Given the description of an element on the screen output the (x, y) to click on. 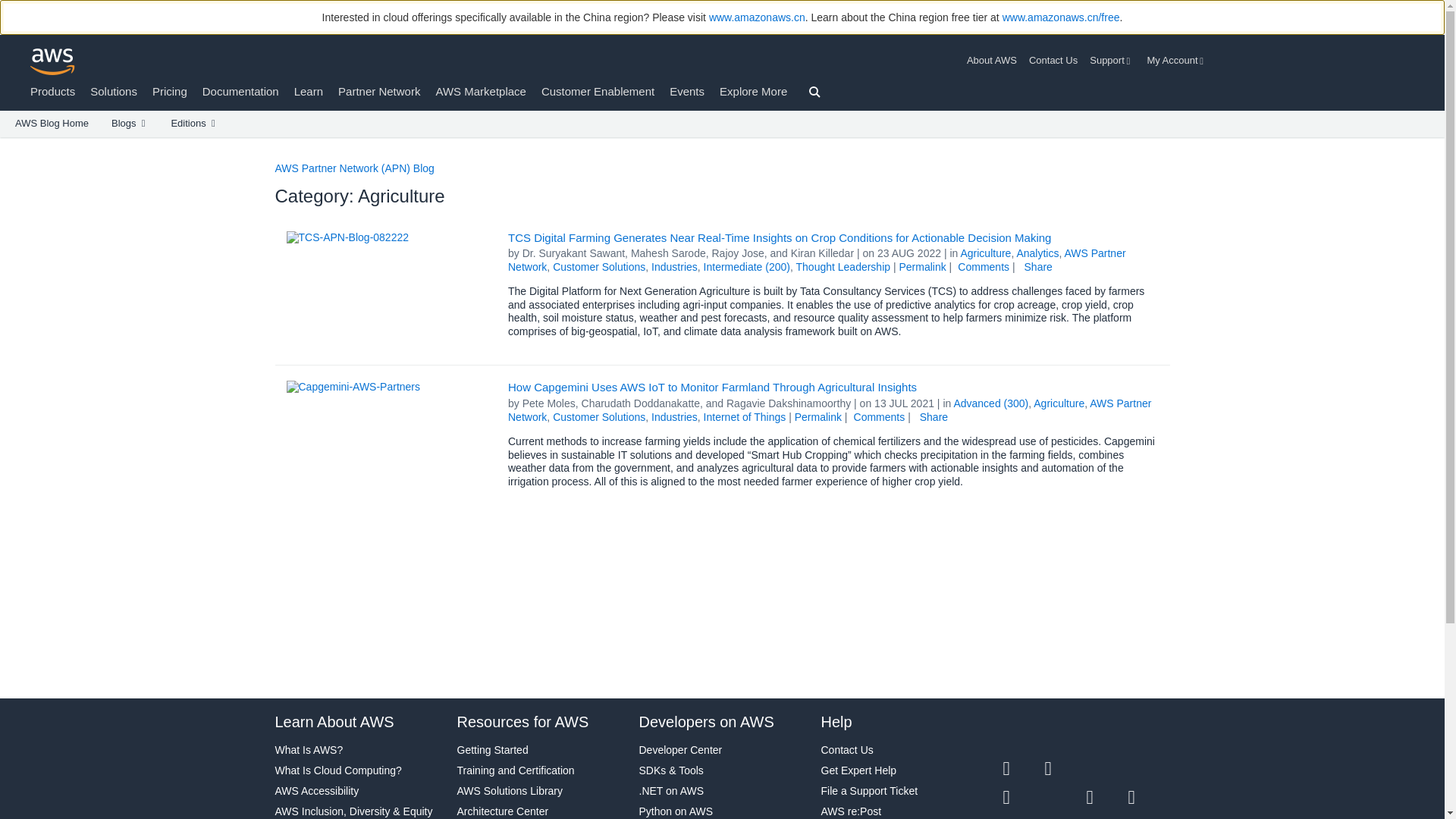
My Account  (1177, 60)
View all posts in Internet of Things (744, 417)
Click here to return to Amazon Web Services homepage (52, 61)
Products (52, 91)
View all posts in Agriculture (984, 253)
Facebook (1065, 768)
Contact Us (1053, 60)
View all posts in Customer Solutions (599, 417)
View all posts in Customer Solutions (599, 266)
Partner Network (378, 91)
View all posts in Industries (673, 417)
Learn (308, 91)
About AWS (994, 60)
Twitter (1023, 768)
Explore More (753, 91)
